Given the description of an element on the screen output the (x, y) to click on. 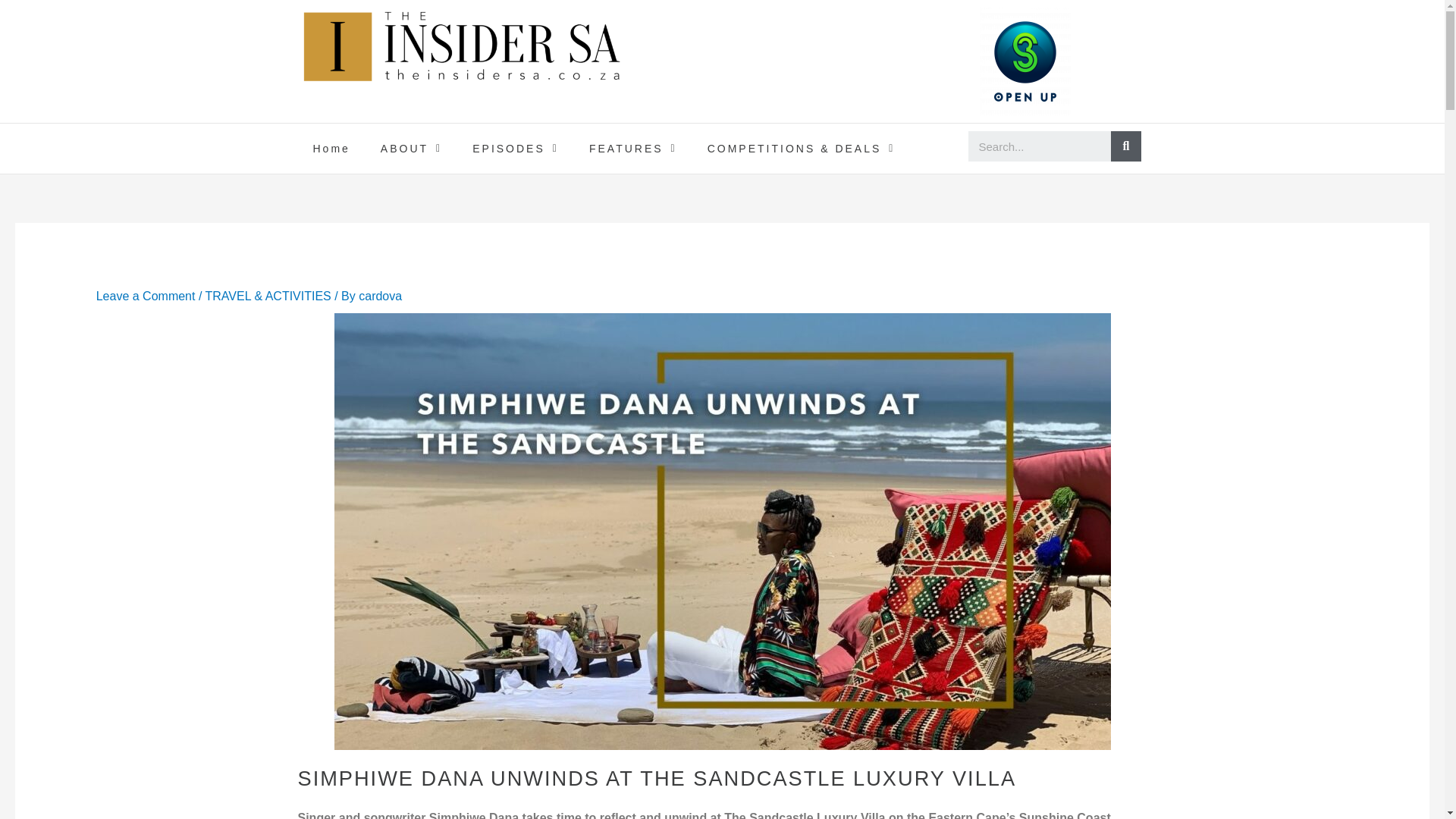
ABOUT (411, 148)
Home (331, 148)
Search (1039, 146)
Search (1125, 146)
EPISODES (515, 148)
View all posts by cardova (379, 295)
